Given the description of an element on the screen output the (x, y) to click on. 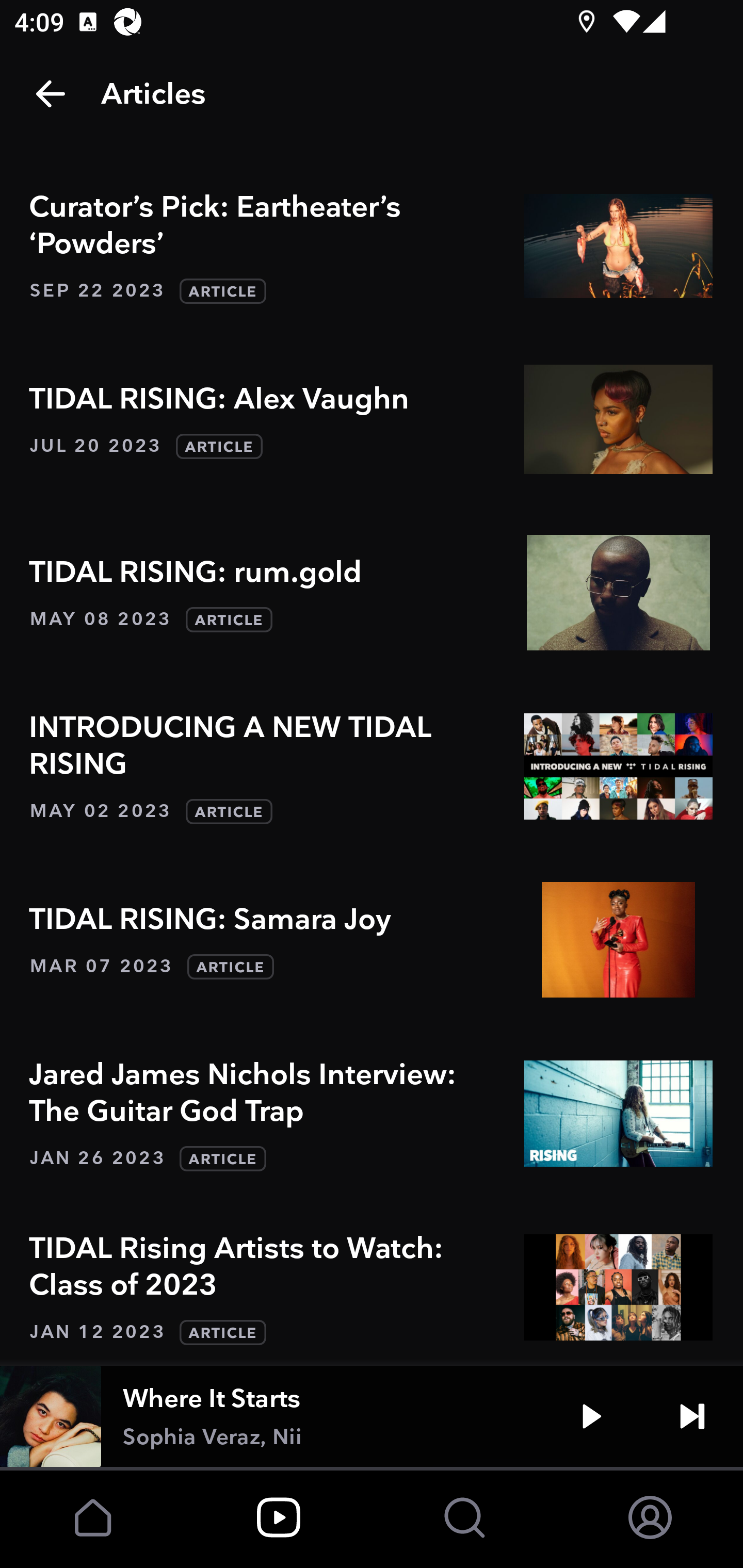
Curator’s Pick: Eartheater’s ‘Powders’ SEP 22 2023 (371, 246)
TIDAL RISING: Alex Vaughn JUL 20 2023 (371, 419)
TIDAL RISING: rum.gold MAY 08 2023 (371, 592)
INTRODUCING A NEW TIDAL RISING MAY 02 2023 (371, 766)
TIDAL RISING: Samara Joy MAR 07 2023 (371, 939)
Where It Starts Sophia Veraz, Nii Play (371, 1416)
Play (590, 1416)
